Given the description of an element on the screen output the (x, y) to click on. 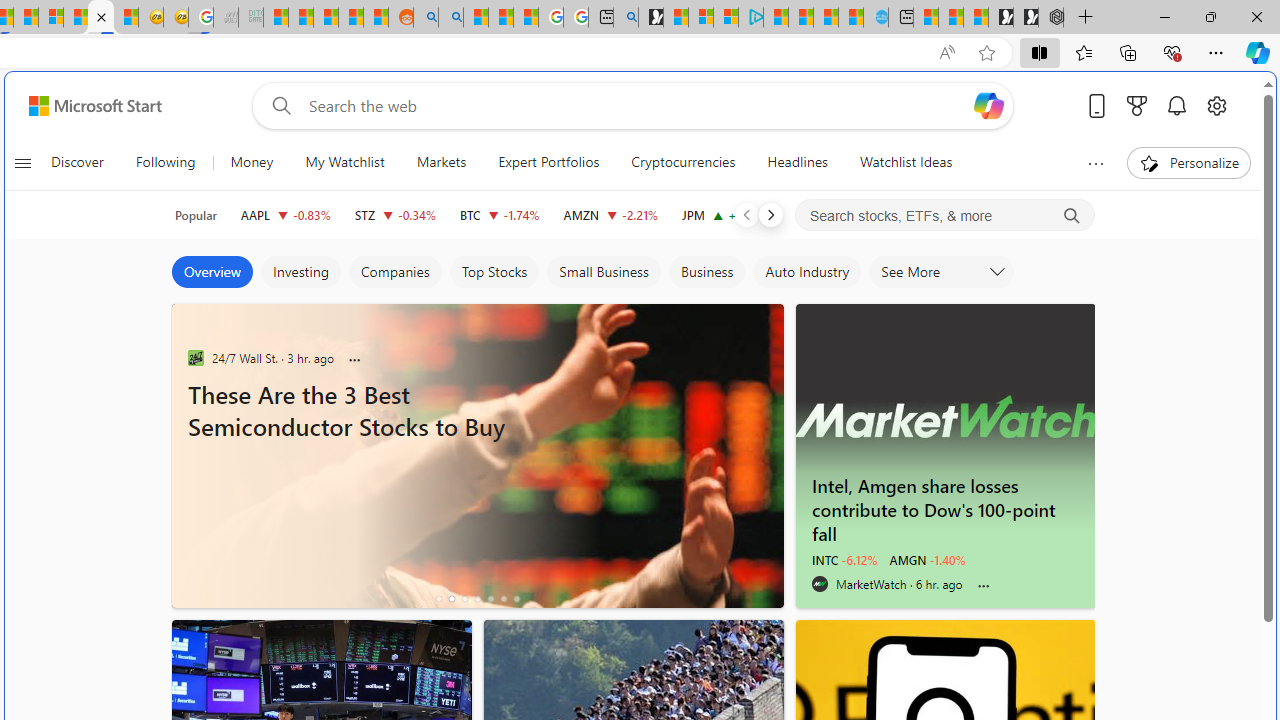
Show more topics (1095, 163)
Investing (299, 272)
Headlines (797, 162)
